Given the description of an element on the screen output the (x, y) to click on. 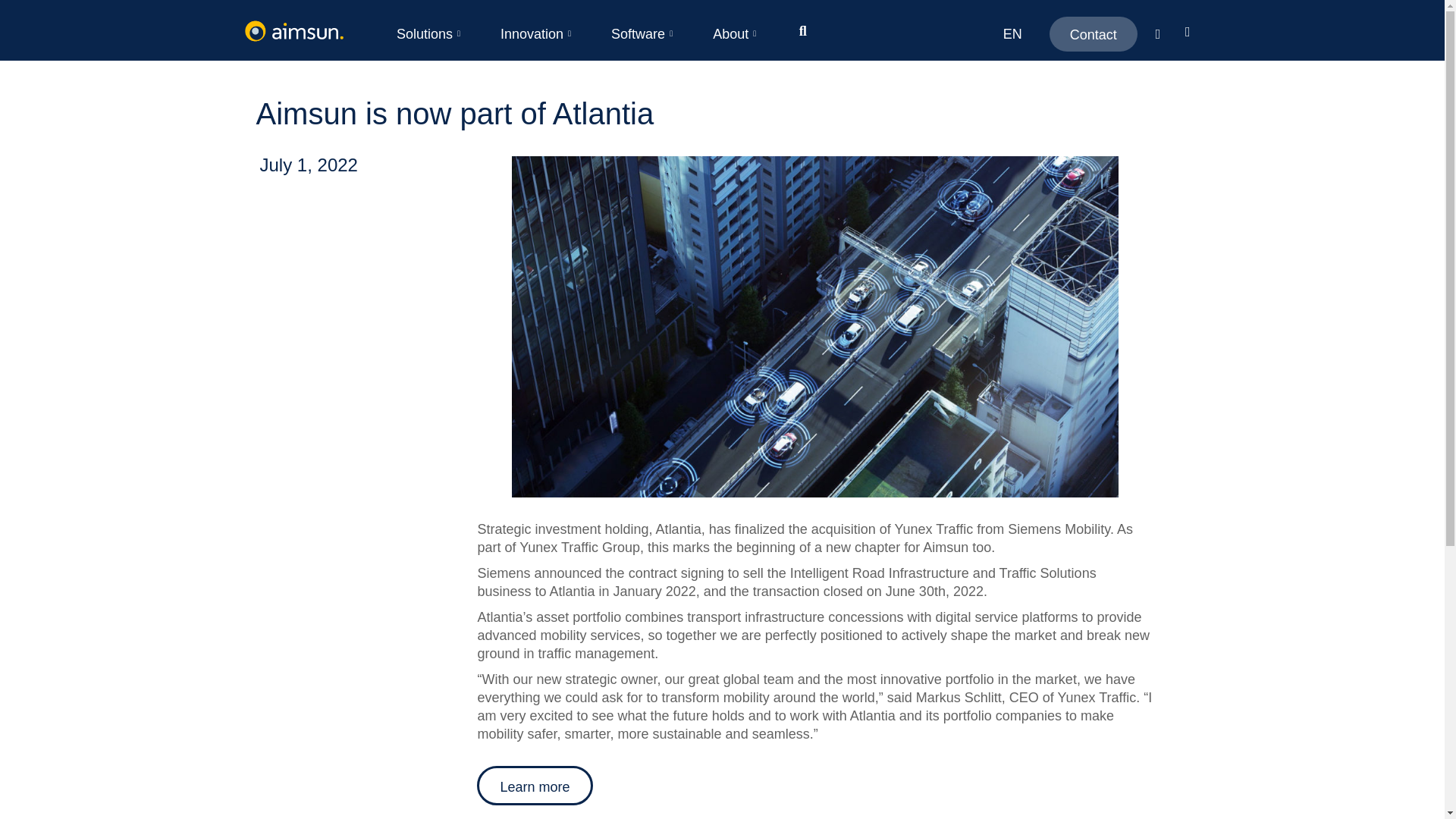
About (735, 33)
EN (1012, 33)
Solutions (429, 33)
Innovation (536, 33)
Software (643, 33)
